Given the description of an element on the screen output the (x, y) to click on. 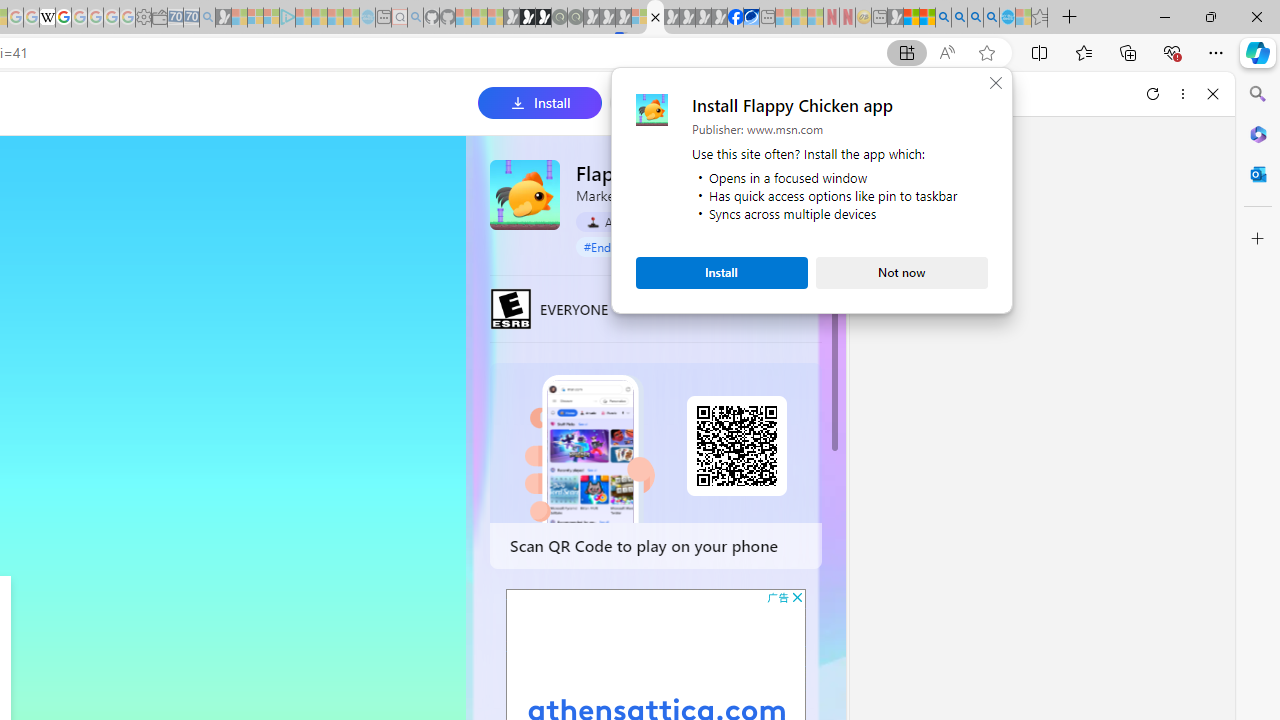
Favorites - Sleeping (1039, 17)
Bing AI - Search (943, 17)
Services - Maintenance | Sky Blue Bikes - Sky Blue Bikes (1007, 17)
Install (721, 272)
